Given the description of an element on the screen output the (x, y) to click on. 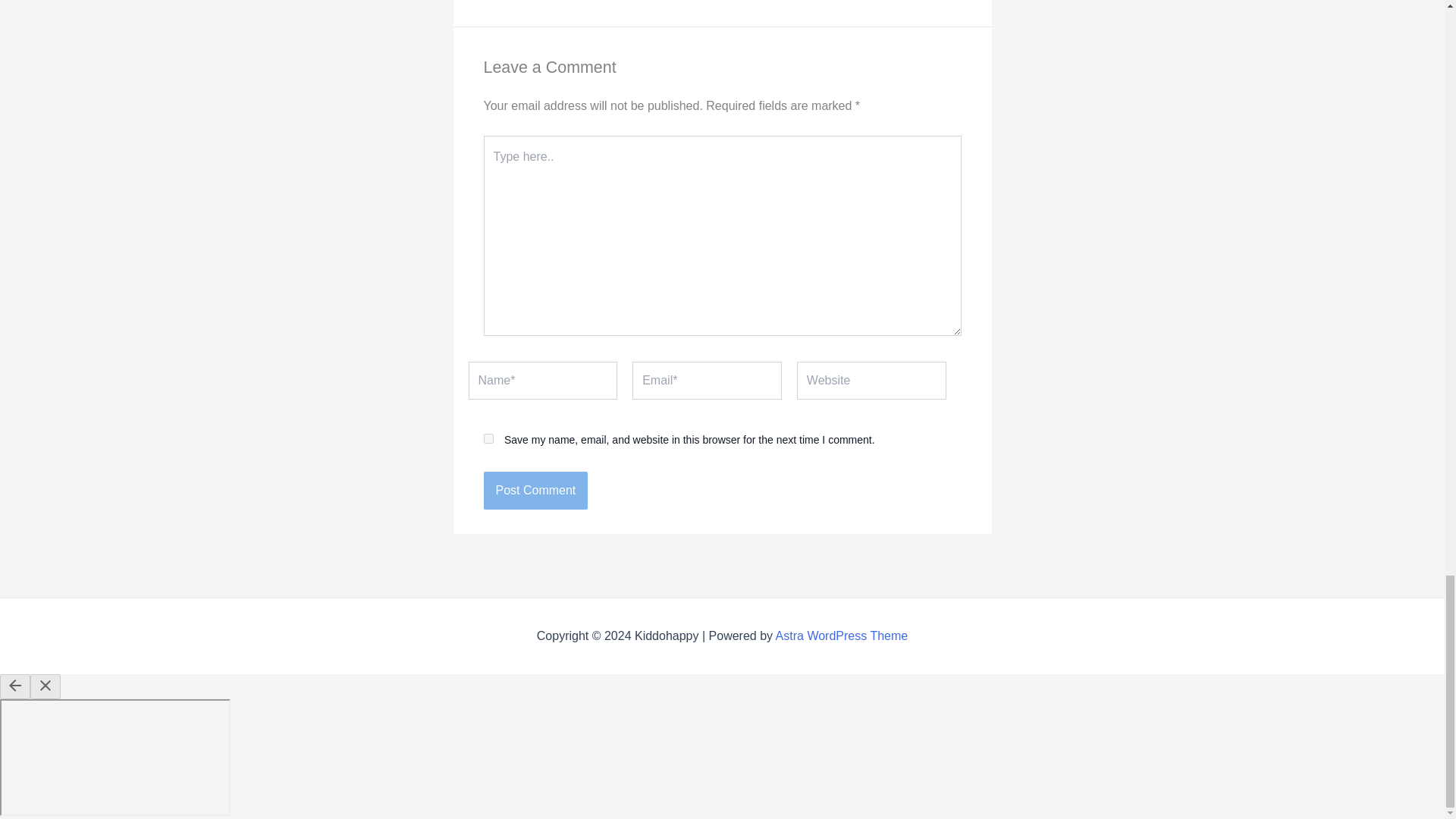
Astra WordPress Theme (842, 635)
yes (488, 438)
Post Comment (535, 489)
Post Comment (535, 489)
